Given the description of an element on the screen output the (x, y) to click on. 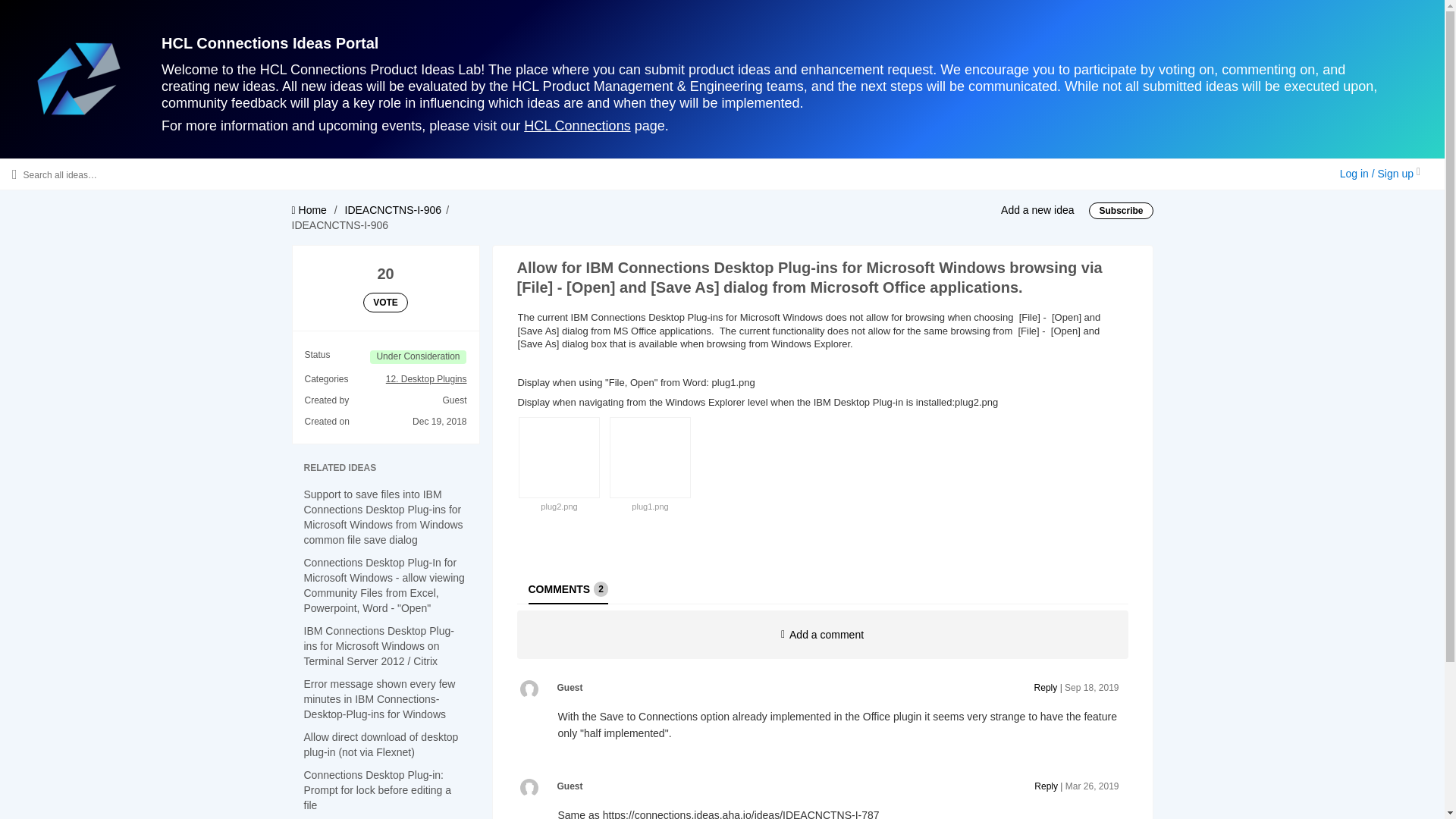
plug2.png (558, 506)
HCL Connections (577, 125)
Add a new idea (1037, 209)
IDEACNCTNS-I-906 (393, 209)
Reply (1045, 687)
Add a comment (822, 634)
Subscribe (1121, 210)
